Given the description of an element on the screen output the (x, y) to click on. 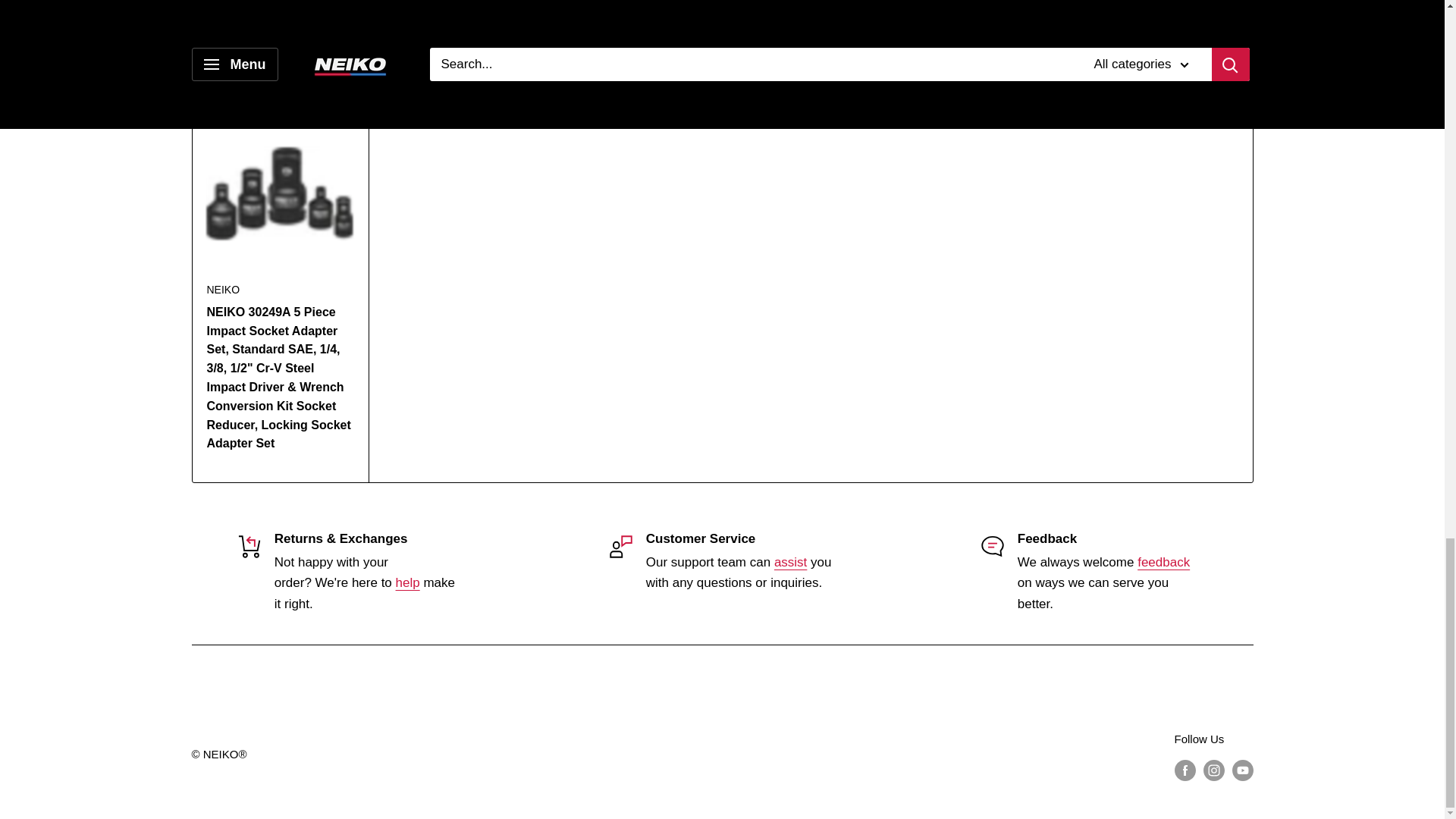
Contact (790, 562)
Support (408, 582)
Contact (1163, 562)
